Given the description of an element on the screen output the (x, y) to click on. 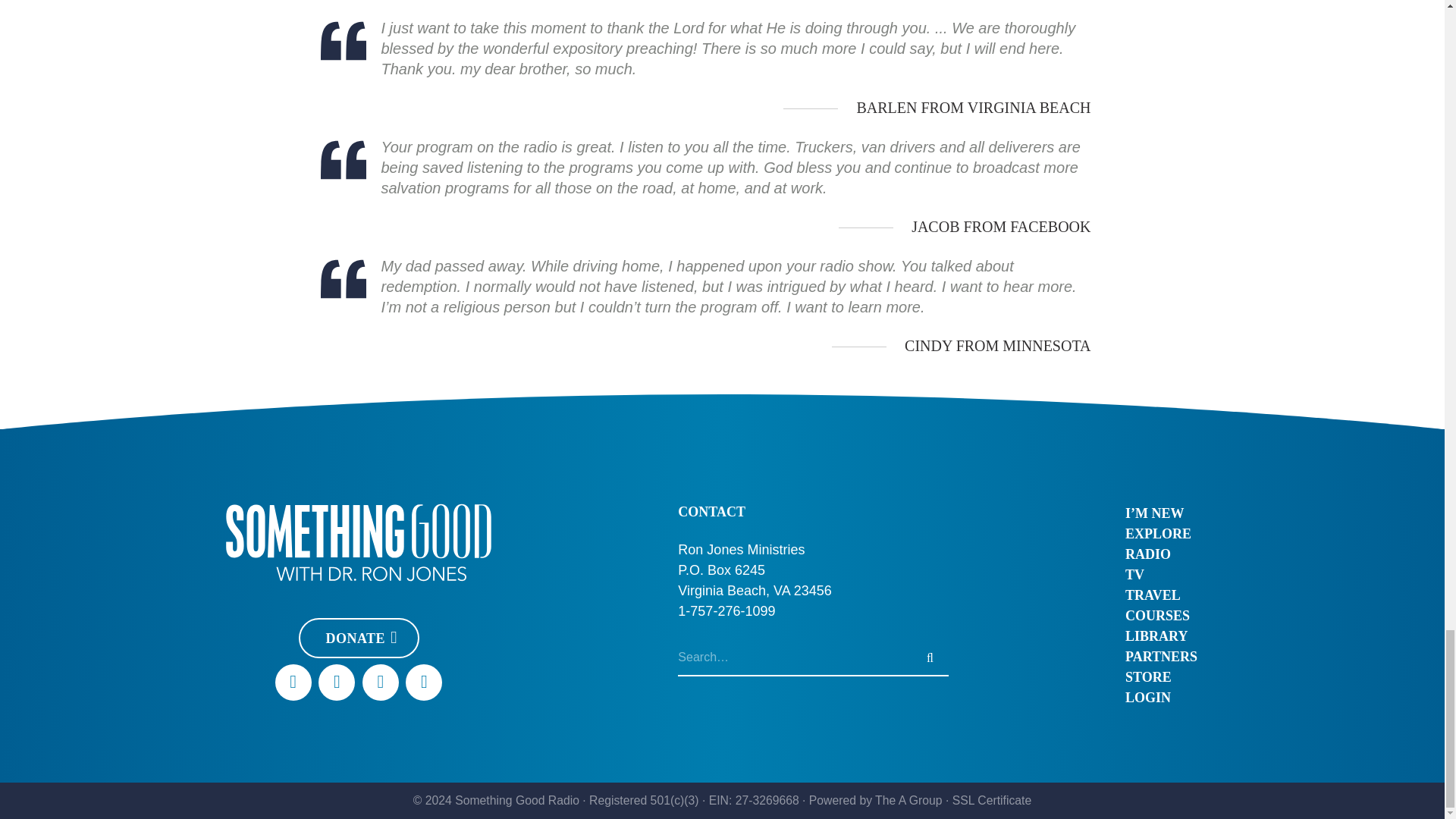
CONTACT (711, 511)
DONATE (358, 638)
YouTube (336, 682)
RSS (424, 682)
SSL Certificate (991, 799)
LIBRARY (1160, 636)
EXPLORE (1160, 534)
SEARCH (930, 657)
COURSES (1160, 616)
PARTNERS (1160, 657)
